Given the description of an element on the screen output the (x, y) to click on. 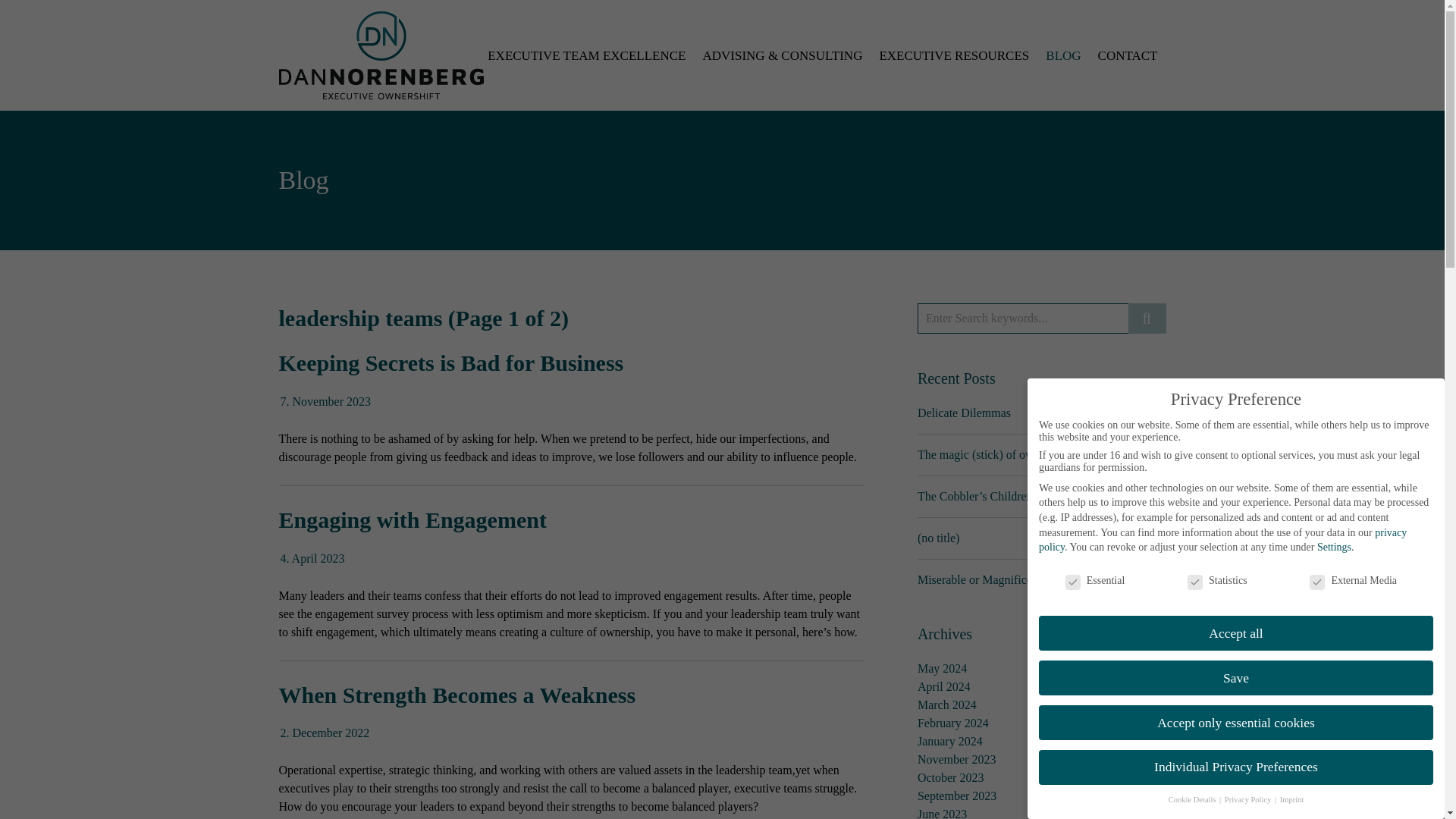
2. December 2022 (325, 732)
April 2024 (944, 686)
March 2024 (946, 704)
When Strength Becomes a Weakness (457, 694)
CONTACT (1127, 54)
When Strength Becomes a Weakness (325, 732)
Miserable or Magnificent Failure? (1000, 579)
EXECUTIVE TEAM EXCELLENCE (586, 54)
EXECUTIVE RESOURCES (953, 54)
Keeping Secrets is Bad for Business (326, 400)
Engaging with Engagement (413, 519)
Keeping Secrets is Bad for Business (451, 362)
7. November 2023 (326, 400)
February 2024 (952, 722)
Keeping Secrets is Bad for Business (451, 362)
